Given the description of an element on the screen output the (x, y) to click on. 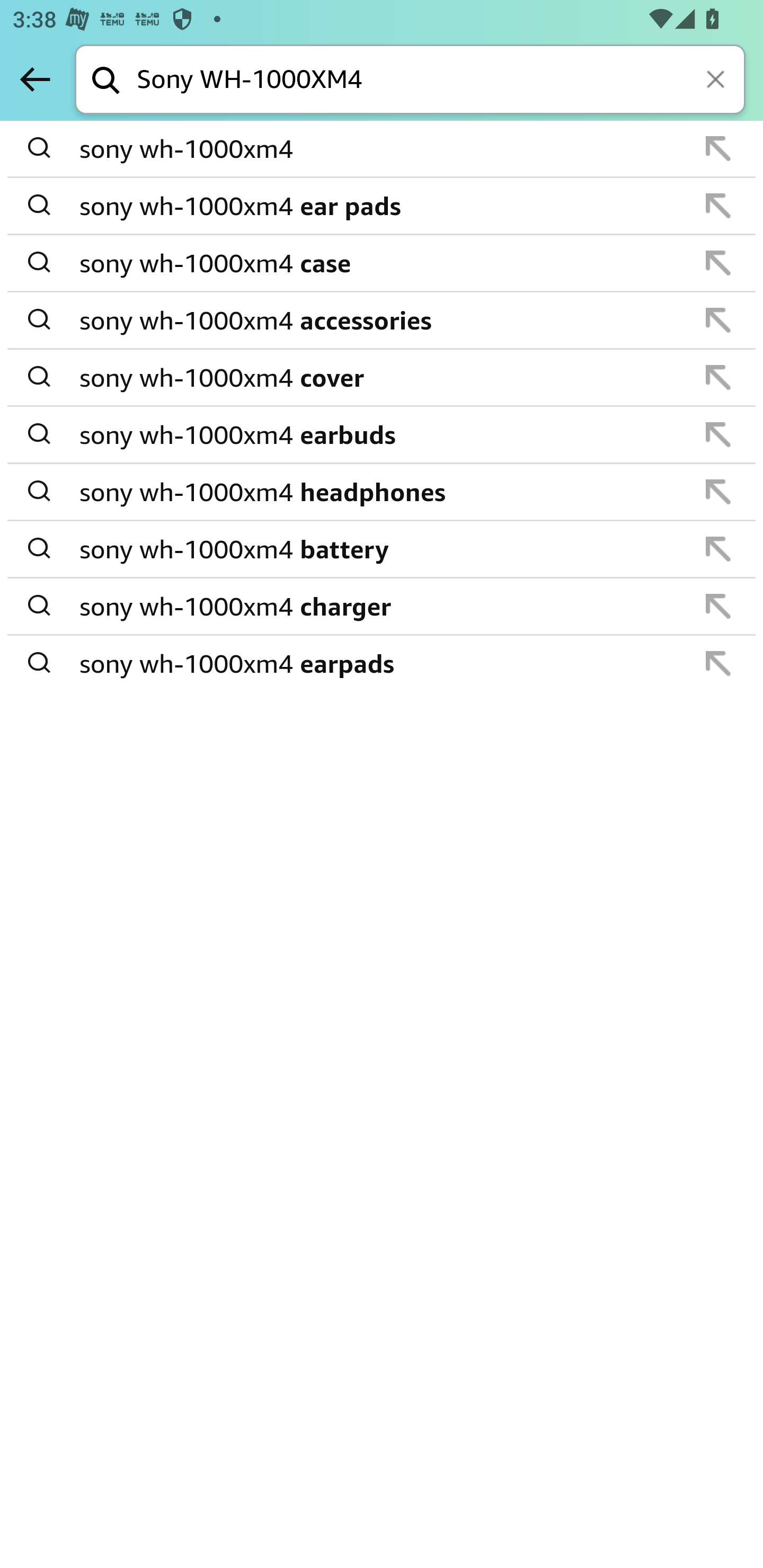
Sony WH-1000XM4 (440, 80)
Clear search keywords (717, 80)
Back (35, 78)
append suggestion sony wh-1000xm4 (381, 149)
sony wh-1000xm4 (382, 149)
append suggestion (718, 147)
sony wh-1000xm4 ear pads (382, 205)
append suggestion sony wh-1000xm4 ear pads (381, 206)
append suggestion (718, 205)
sony wh-1000xm4 case (382, 262)
append suggestion sony wh-1000xm4 case (381, 263)
append suggestion (718, 262)
sony wh-1000xm4 accessories (382, 319)
append suggestion sony wh-1000xm4 accessories (381, 320)
append suggestion (718, 319)
sony wh-1000xm4 cover (382, 377)
append suggestion sony wh-1000xm4 cover (381, 377)
append suggestion (718, 376)
sony wh-1000xm4 earbuds (382, 434)
append suggestion sony wh-1000xm4 earbuds (381, 435)
